Given the description of an element on the screen output the (x, y) to click on. 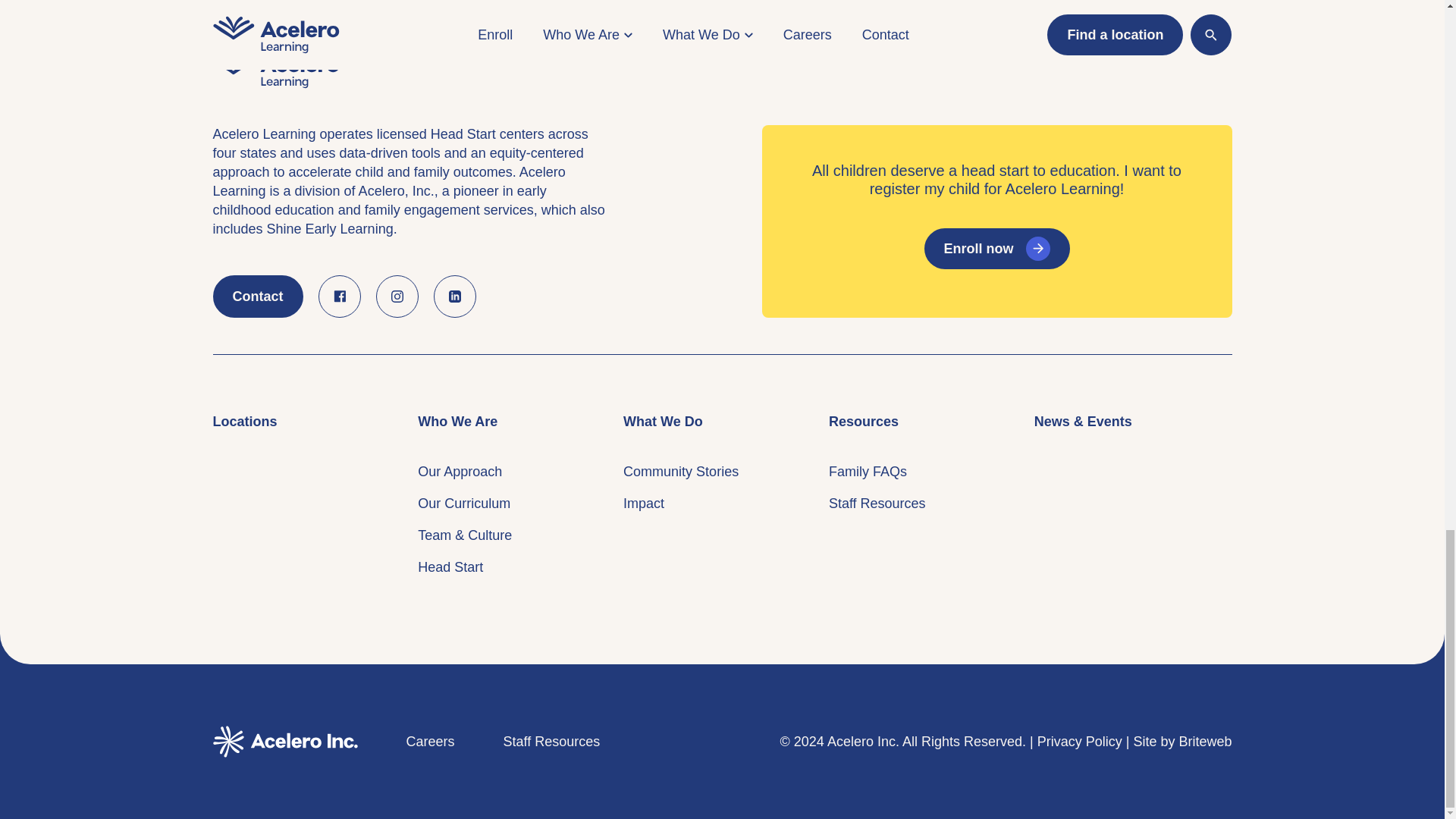
Who We Are (457, 421)
Careers (430, 67)
What We Do (663, 421)
Our Curriculum (464, 503)
Locations (244, 421)
Impact (643, 503)
Site by Briteweb (1181, 67)
Who We Are (457, 421)
Impact (643, 503)
Community Stories (680, 471)
Staff Resources (877, 503)
Community Stories (680, 471)
Staff Resources (877, 503)
Staff Resources (551, 67)
Our Approach (459, 471)
